Given the description of an element on the screen output the (x, y) to click on. 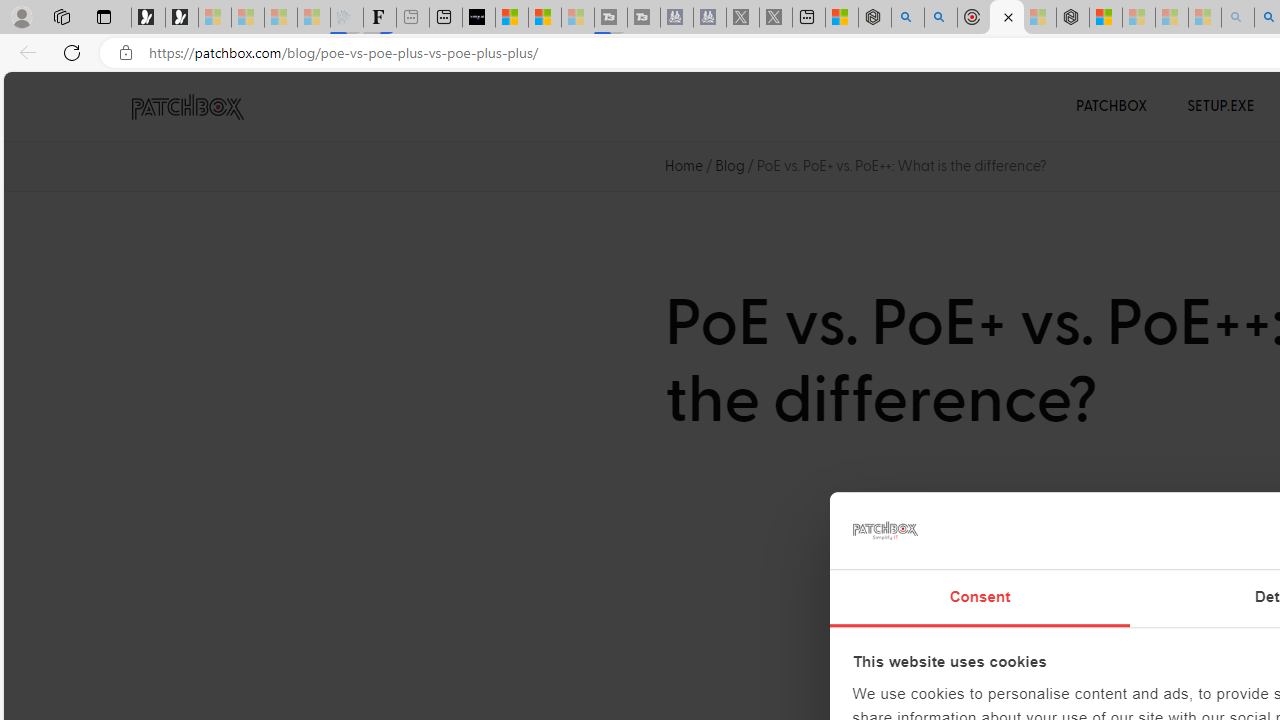
PATCHBOX Simplify IT (200, 106)
Blog (729, 165)
X - Sleeping (776, 17)
What's the best AI voice generator? - voice.ai (479, 17)
PATCHBOX - Simplify IT (187, 107)
PATCHBOX (1111, 106)
New tab - Sleeping (412, 17)
Consent (979, 598)
SETUP.EXE (1220, 106)
